Given the description of an element on the screen output the (x, y) to click on. 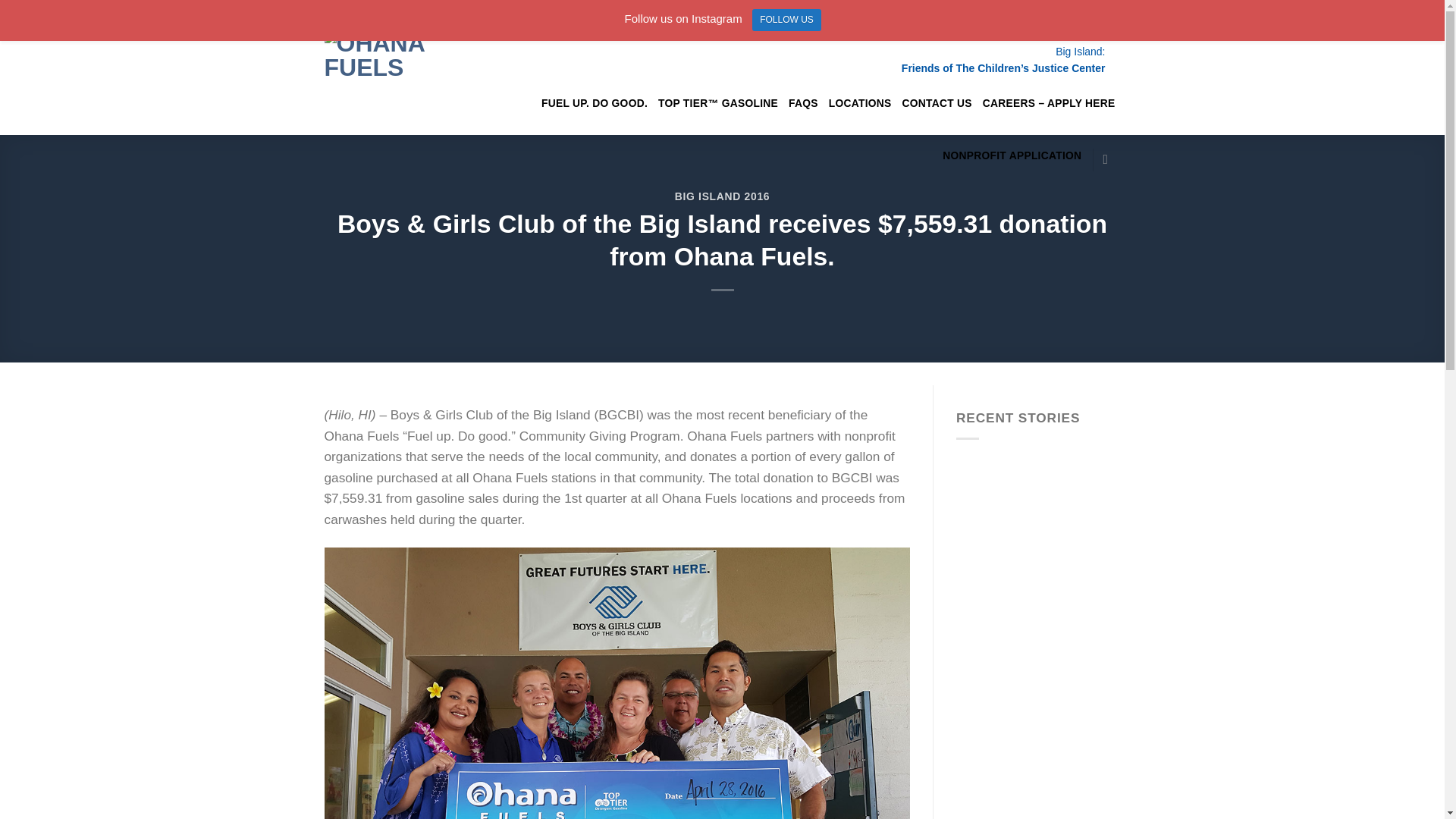
NONPROFIT APPLICATION (1011, 155)
FUEL UP. DO GOOD. (594, 103)
Follow on Facebook (1109, 159)
CONTACT US (937, 103)
LOCATIONS (859, 103)
FOLLOW US (786, 20)
BIG ISLAND 2016 (722, 196)
Ohana Fuels (388, 67)
